Given the description of an element on the screen output the (x, y) to click on. 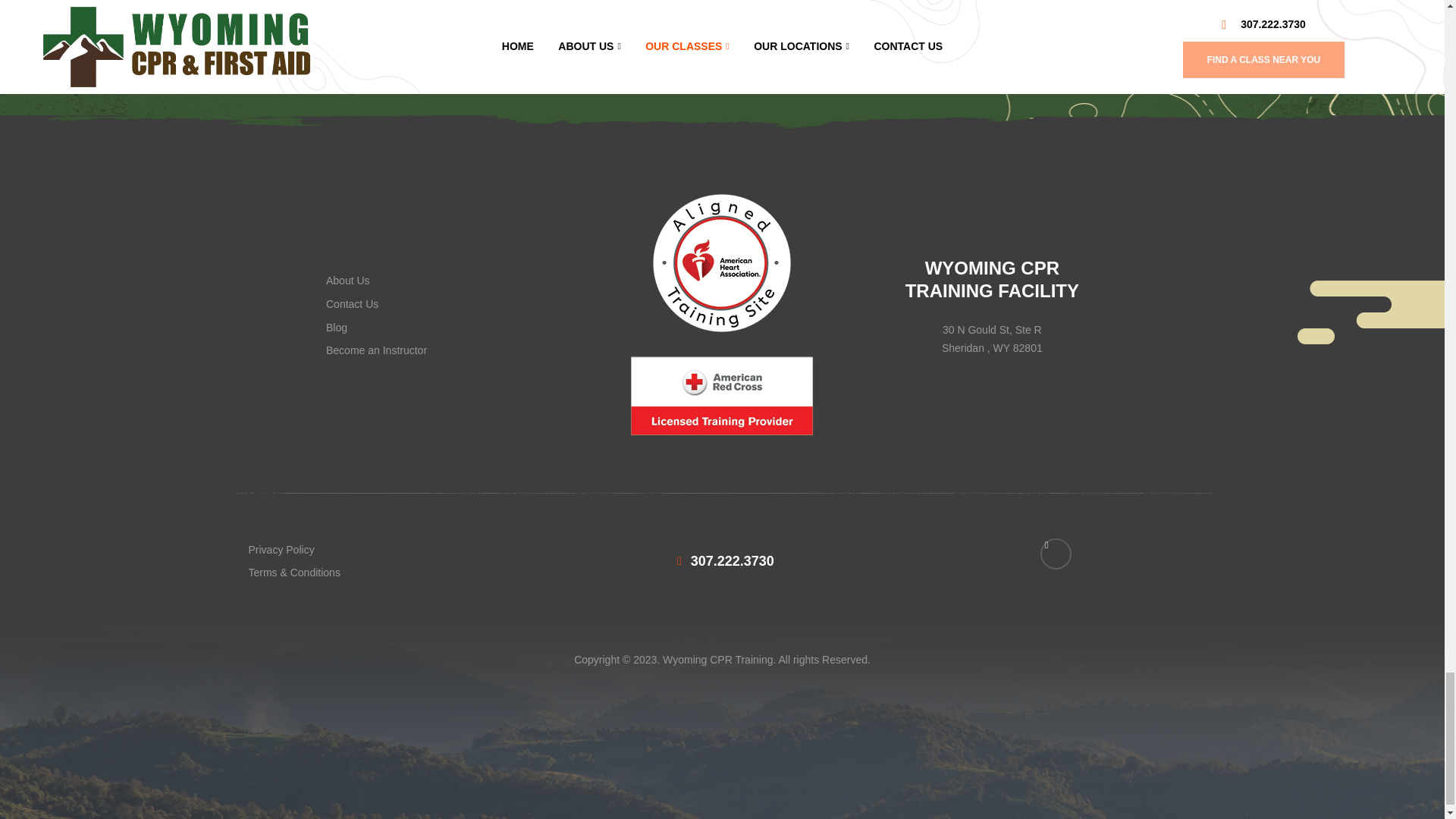
Subscribe (1003, 38)
